Given the description of an element on the screen output the (x, y) to click on. 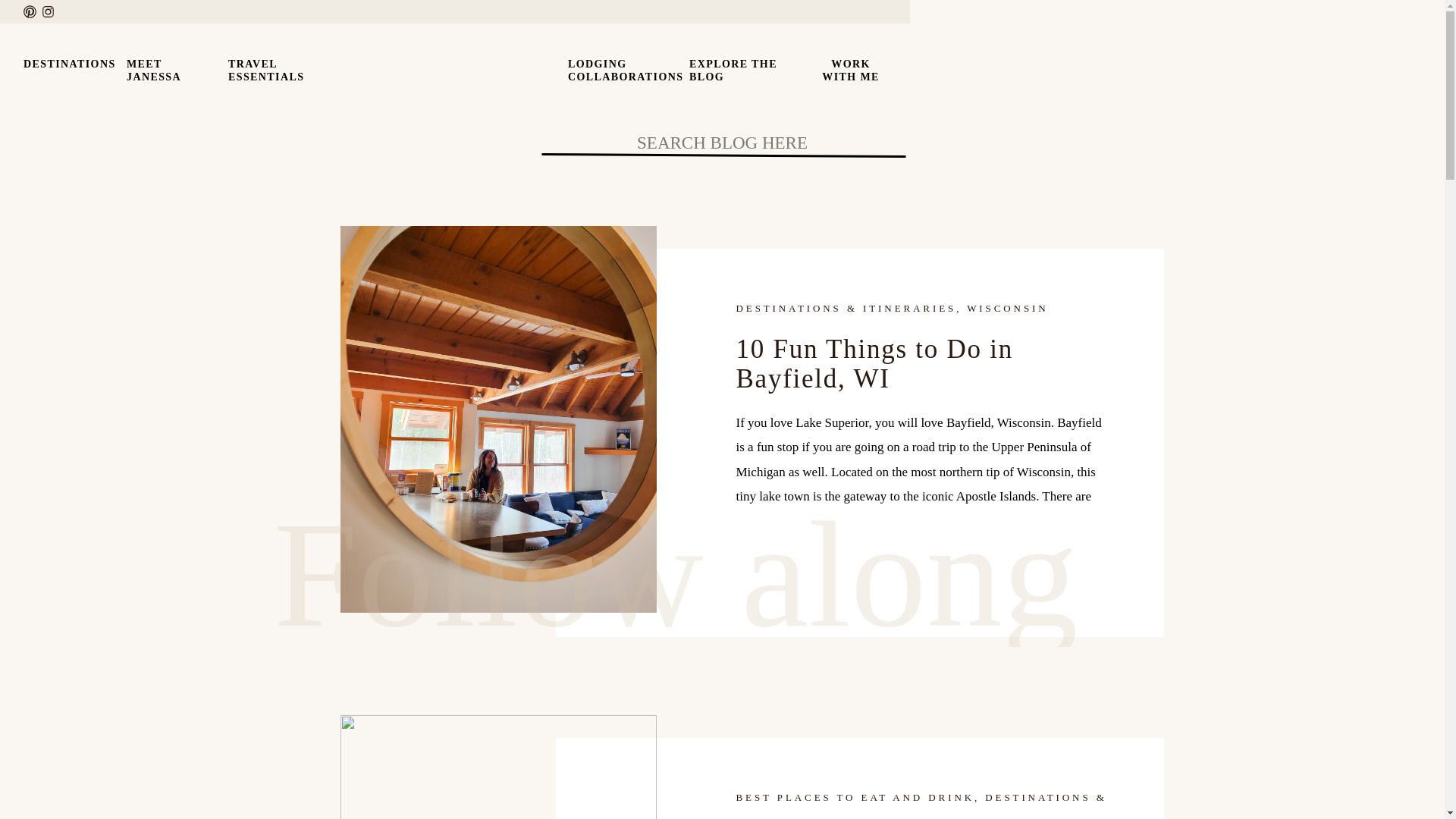
TRAVEL ESSENTIALS (274, 66)
WORK WITH ME (850, 66)
MEET JANESSA (170, 66)
DESTINATIONS (614, 66)
EXPLORE THE BLOG (66, 66)
10 Reasons to Visit Wisconsin Dells (748, 66)
